Given the description of an element on the screen output the (x, y) to click on. 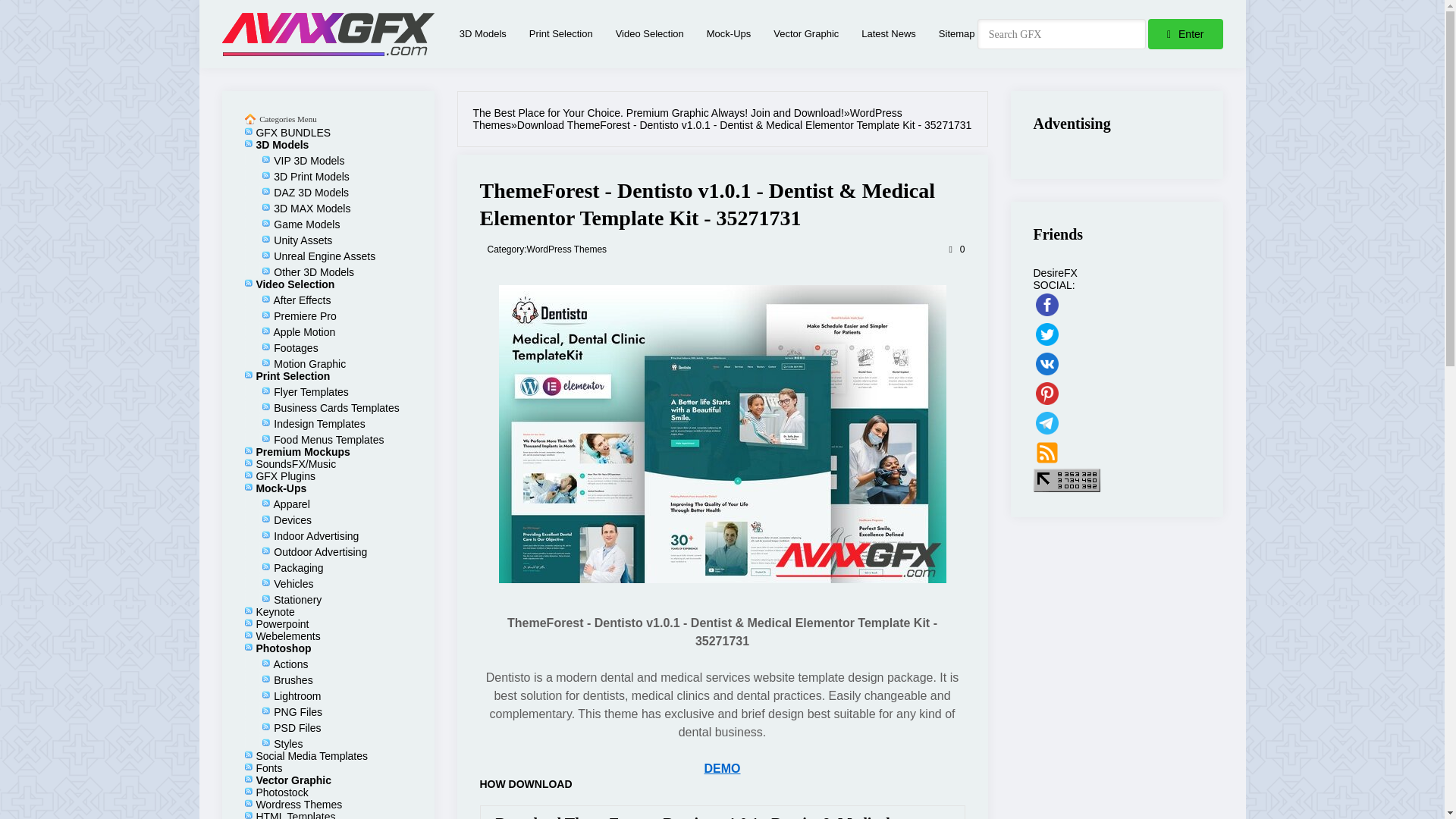
GFX BUNDLES (293, 132)
Apparel (291, 503)
3D Print Models (311, 176)
Game Models (306, 224)
VIP 3D Models (308, 160)
After Effects Templates, Premier Pro, Motion Graphic Videos (649, 33)
Motion Graphic (309, 363)
Premium Mockups (302, 451)
Food Menus Templates (328, 439)
Unity Assets (302, 240)
Mock-Ups Templates (728, 33)
Indoor Advertising (315, 535)
Print Selection (293, 376)
Sitemap (957, 33)
Download Premium GFX Products (327, 33)
